Given the description of an element on the screen output the (x, y) to click on. 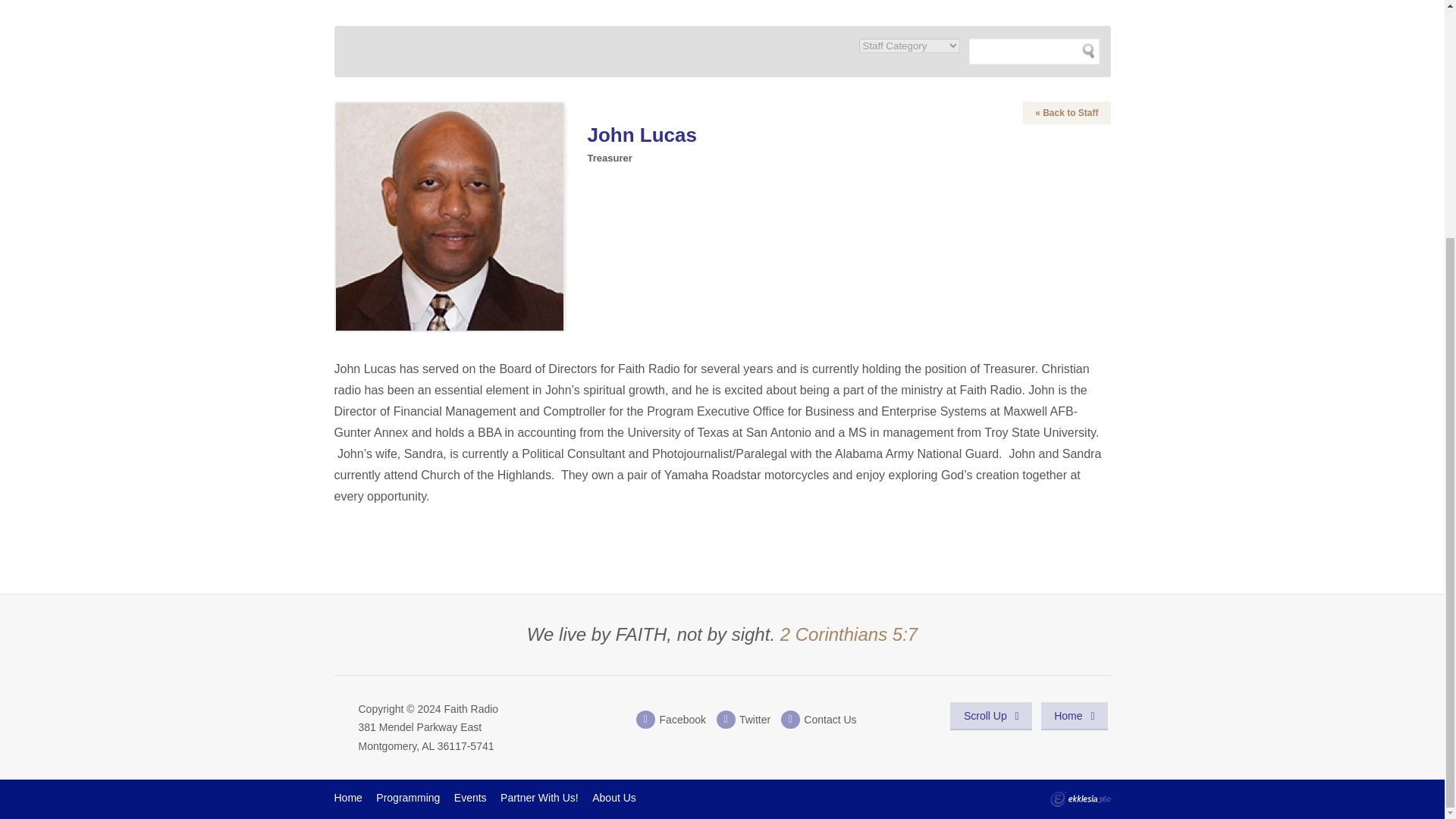
Facebook (671, 719)
John Lucas (448, 216)
Contact Us (818, 719)
Twitter (743, 719)
